Given the description of an element on the screen output the (x, y) to click on. 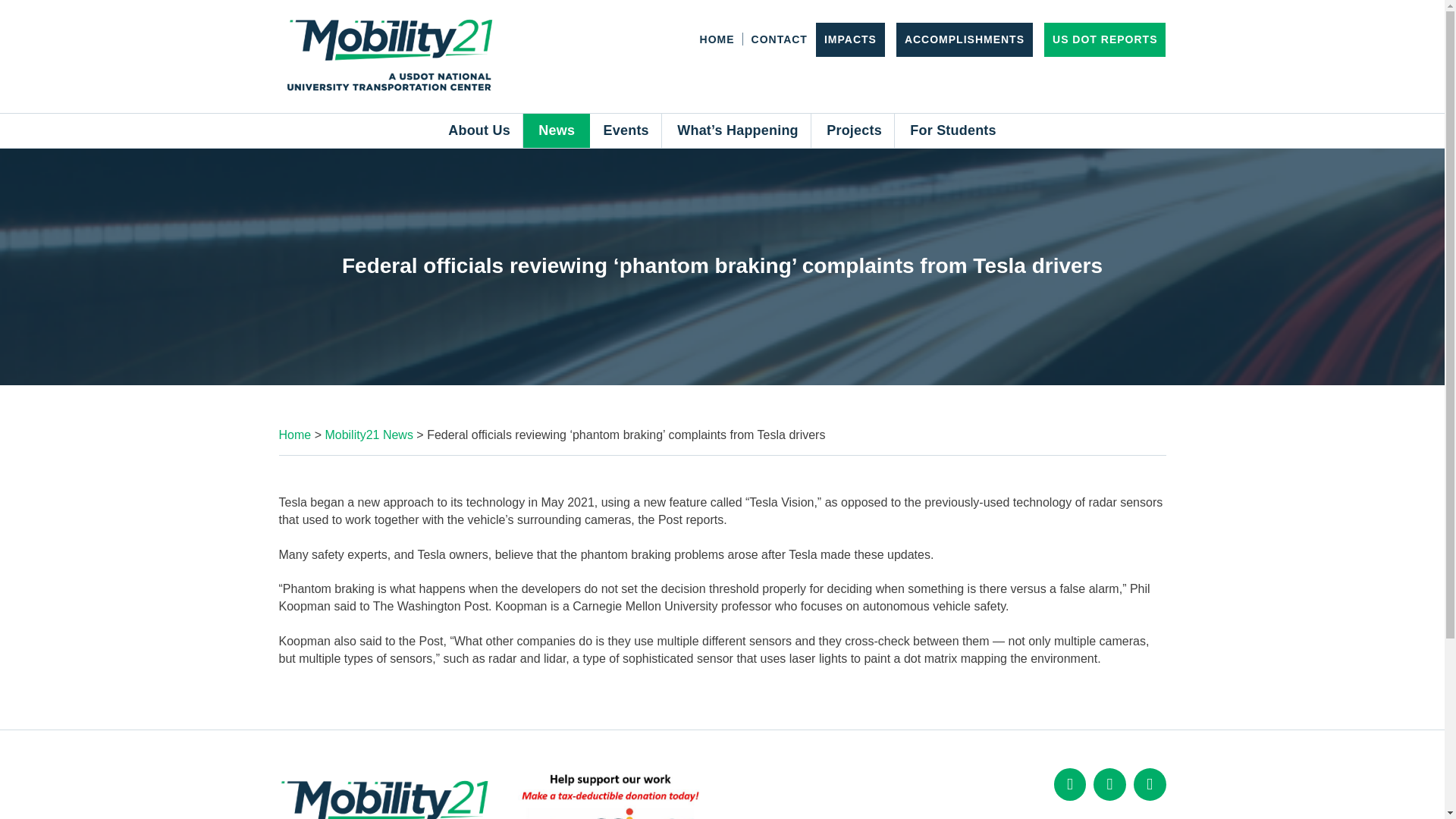
Go to M21. (295, 434)
Go to the Mobility21 News category archives. (368, 434)
CONTACT (779, 39)
ACCOMPLISHMENTS (964, 39)
HOME (717, 39)
YouTube (1150, 784)
Facebook (1070, 784)
US DOT REPORTS (1104, 39)
About Us (478, 130)
Twitter (1109, 784)
IMPACTS (850, 39)
